Given the description of an element on the screen output the (x, y) to click on. 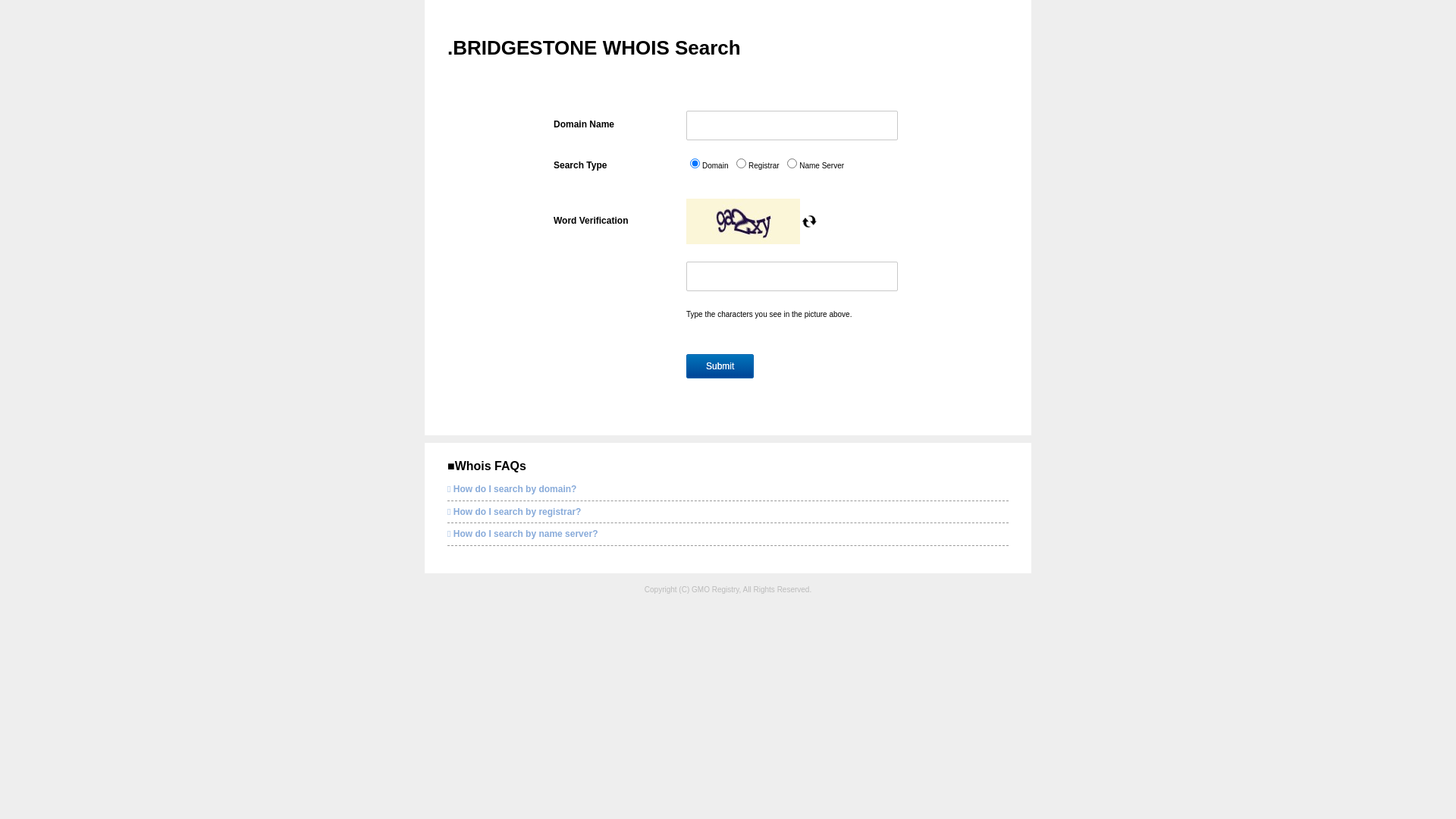
Submit Element type: text (719, 366)
